Given the description of an element on the screen output the (x, y) to click on. 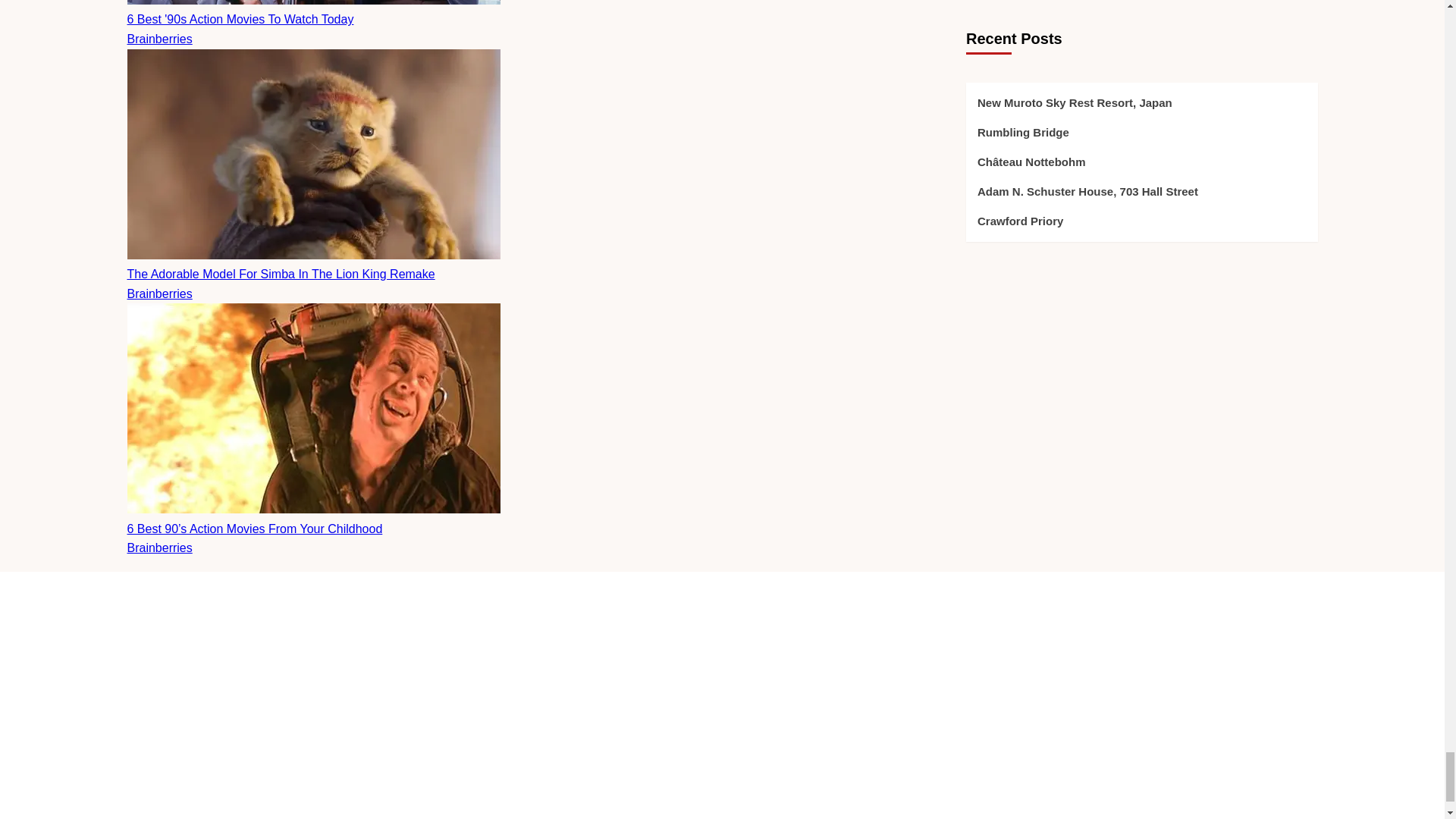
Crawford Priory (722, 815)
New Muroto Sky Rest Resort, Japan (722, 692)
Stories (947, 816)
Animals (950, 693)
Recipes (950, 795)
Adam N. Schuster House, 703 Hall Street (722, 792)
Rumbling Bridge (722, 726)
Forgotten (954, 727)
